Given the description of an element on the screen output the (x, y) to click on. 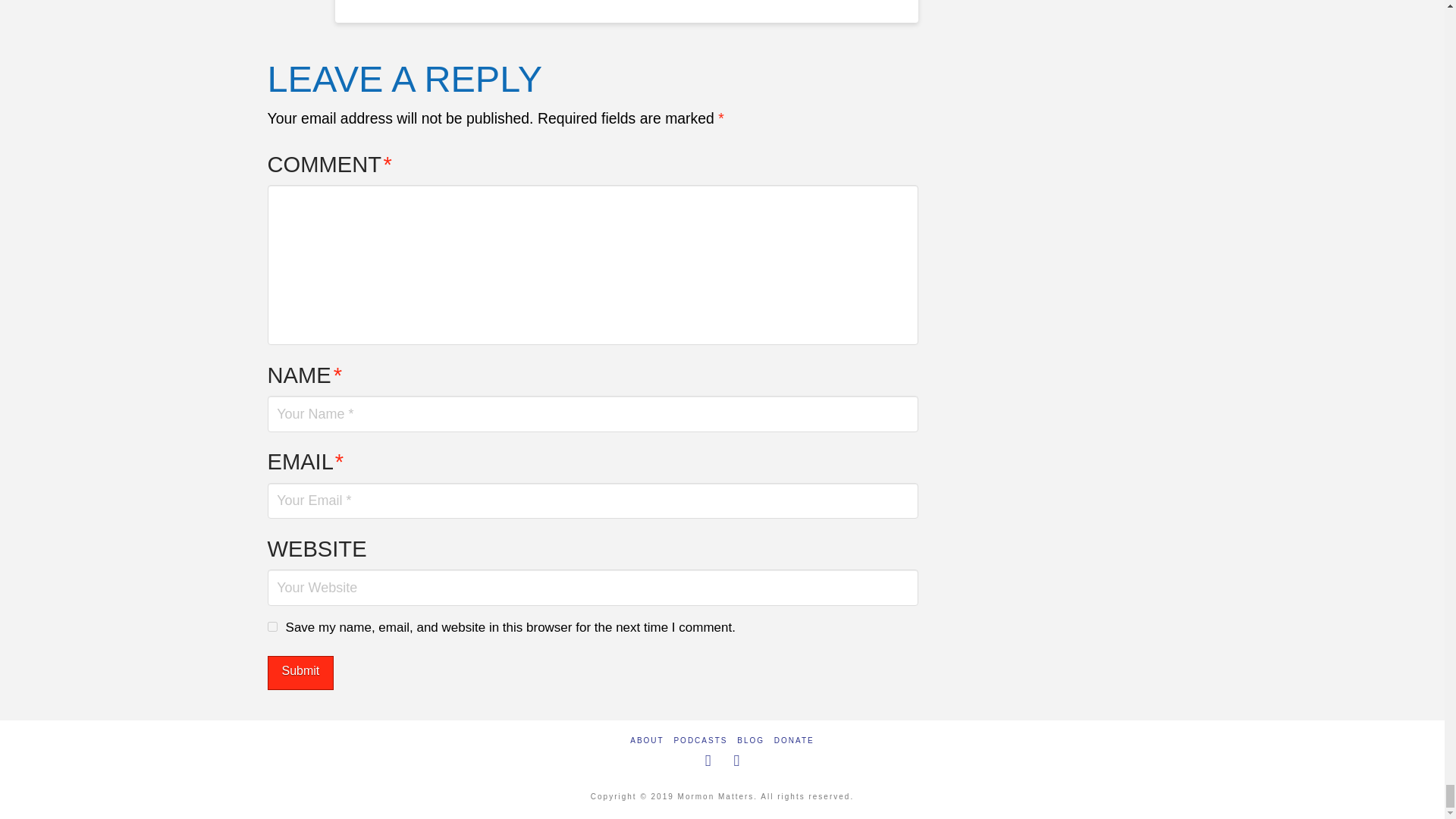
yes (271, 626)
Submit (299, 673)
